Given the description of an element on the screen output the (x, y) to click on. 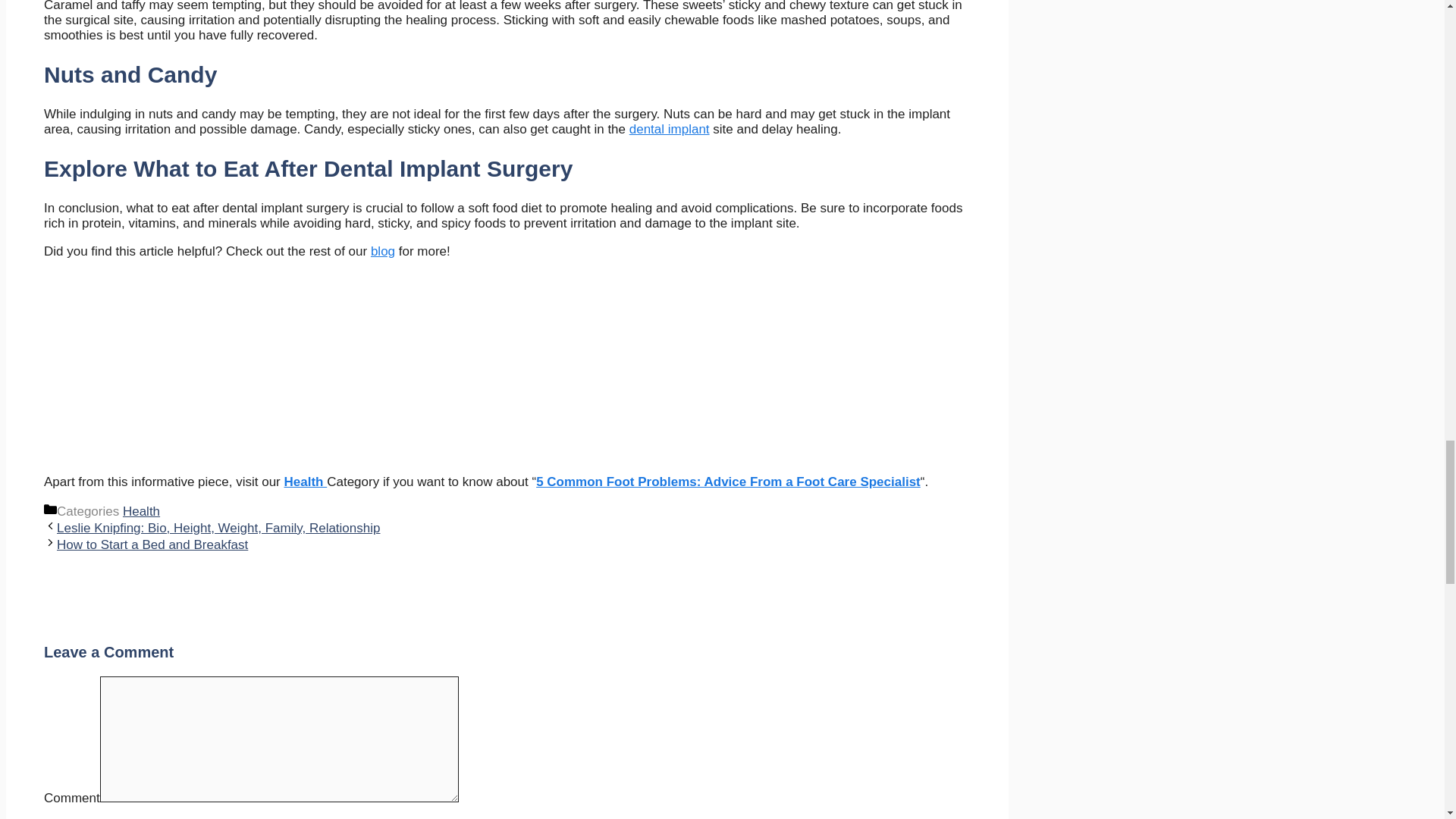
blog (382, 251)
5 Common Foot Problems: Advice From a Foot Care Specialist (727, 481)
Leslie Knipfing: Bio, Height, Weight, Family, Relationship (218, 527)
Health (141, 511)
How to Start a Bed and Breakfast (151, 544)
dental implant (669, 129)
Health (305, 481)
